Given the description of an element on the screen output the (x, y) to click on. 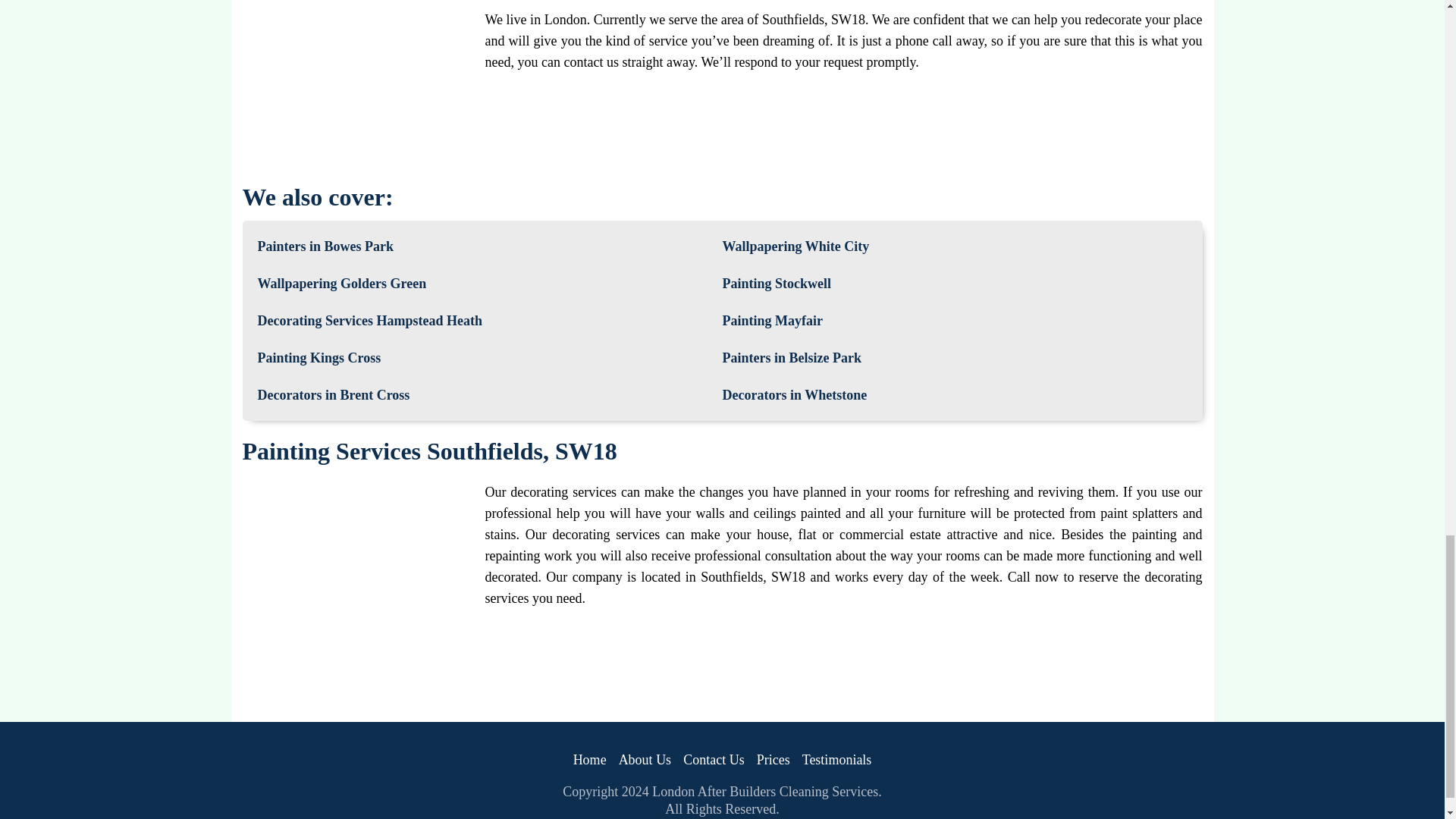
Home (589, 759)
Wallpapering White City (795, 246)
SW9 Painting Stockwell (776, 283)
NW3 Painters in Belsize Park (791, 358)
Painters in Bowes Park (325, 246)
Painting Stockwell (776, 283)
Decorators in Whetstone (794, 395)
W12 Wallpapering White City (795, 246)
W1 Painting Mayfair (772, 321)
Wallpapering Golders Green (341, 283)
